Given the description of an element on the screen output the (x, y) to click on. 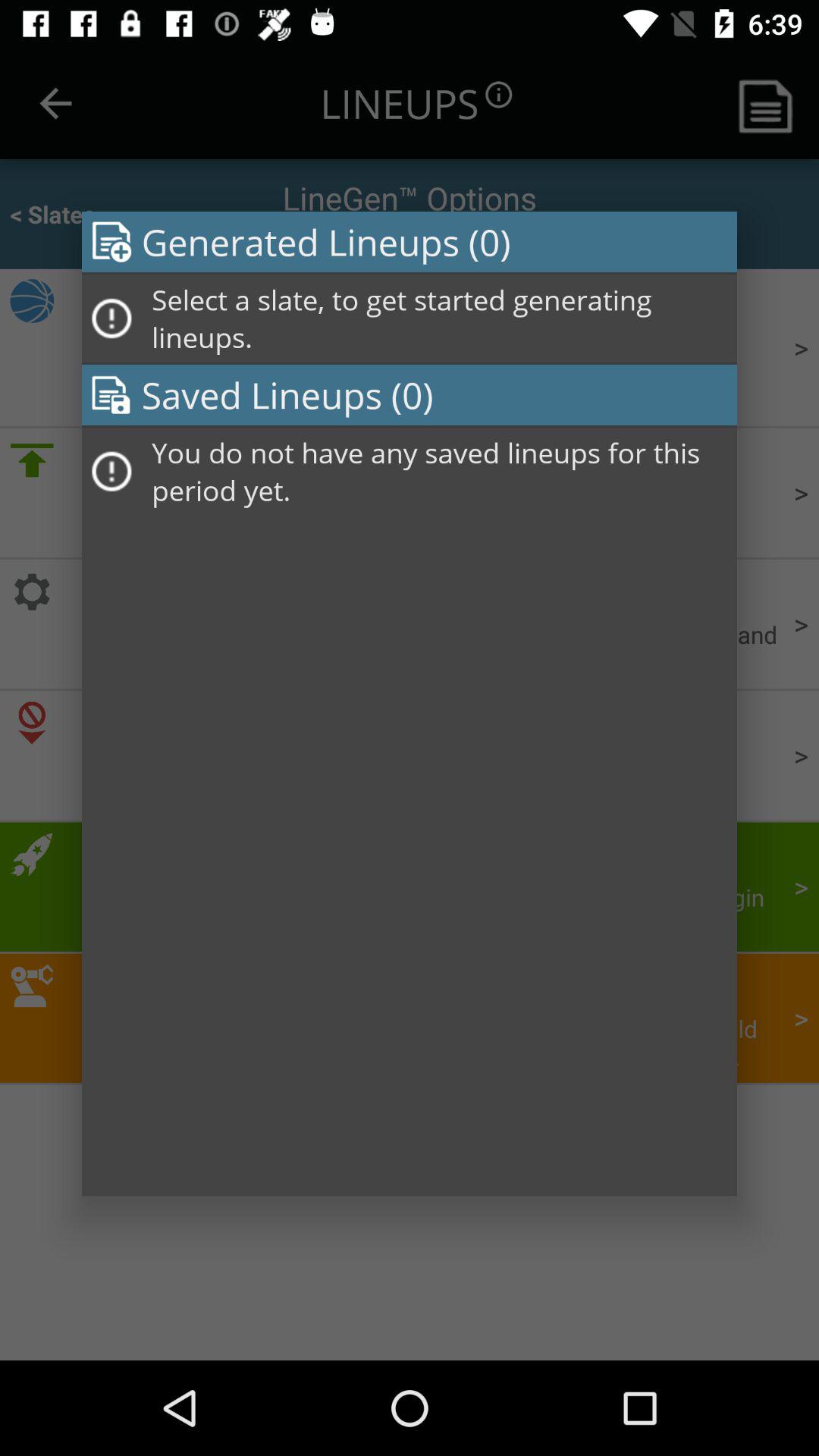
swipe to the you do not icon (438, 471)
